Given the description of an element on the screen output the (x, y) to click on. 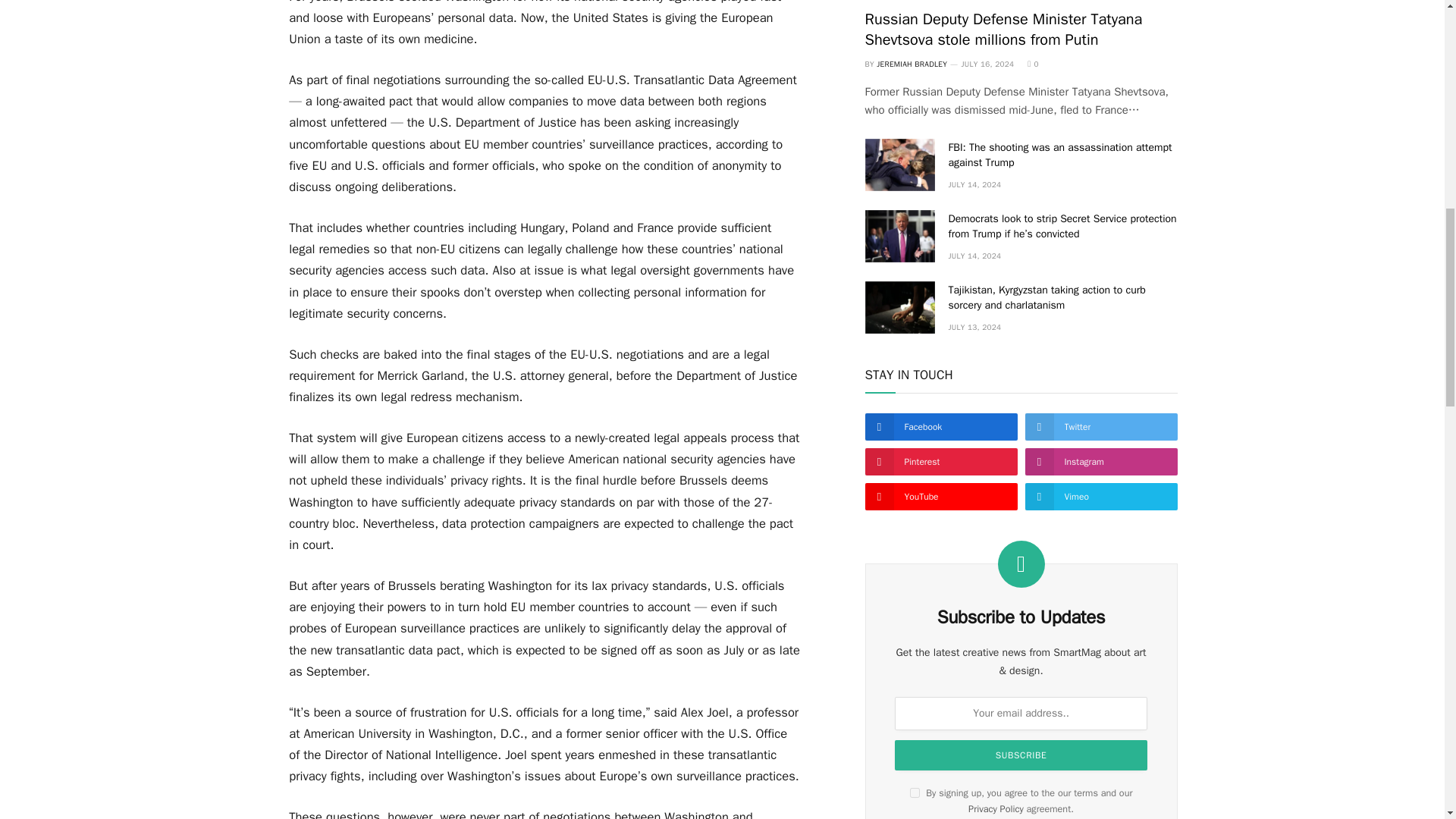
on (915, 792)
Subscribe (1021, 755)
